Given the description of an element on the screen output the (x, y) to click on. 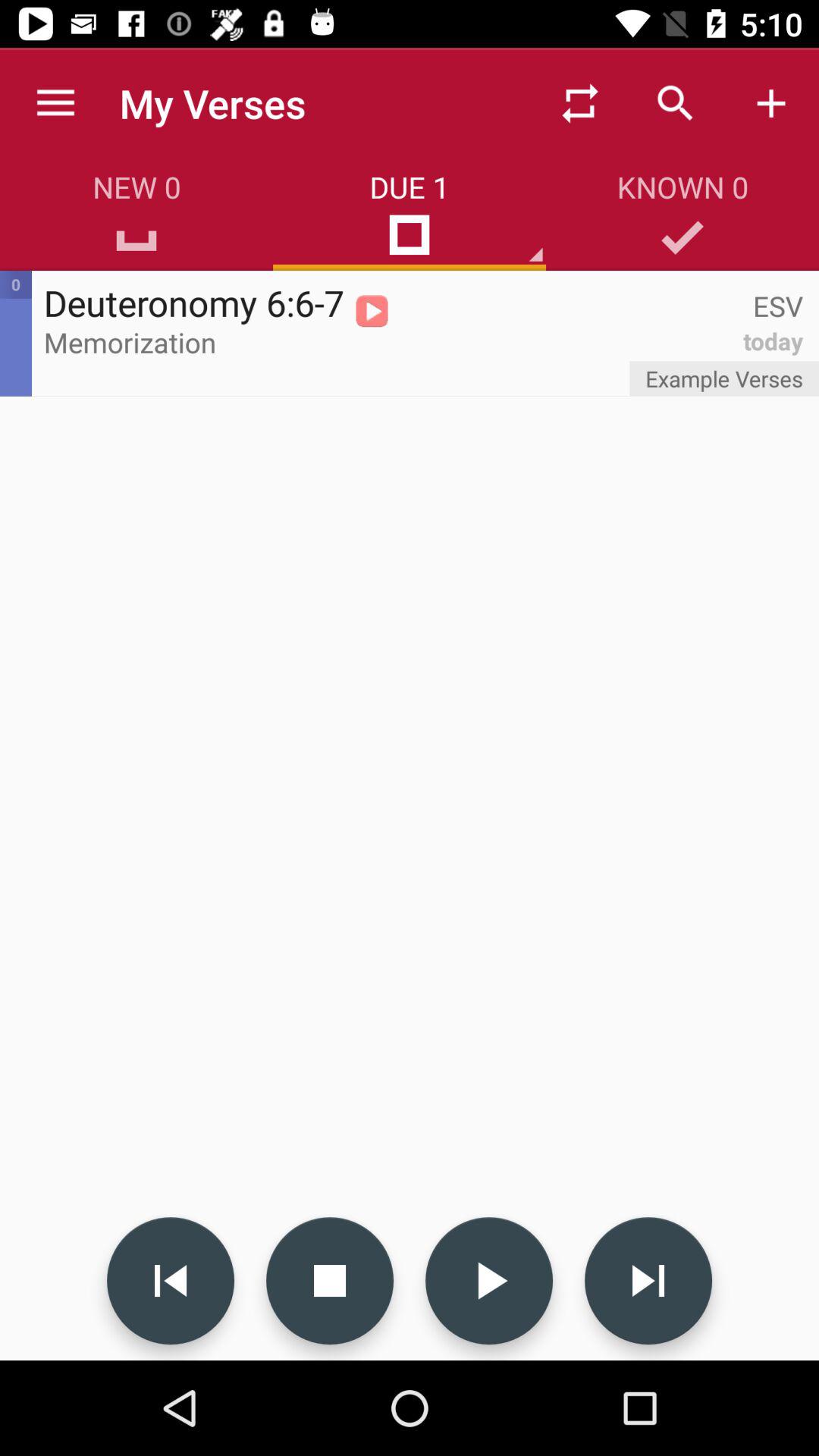
play recording (488, 1280)
